Given the description of an element on the screen output the (x, y) to click on. 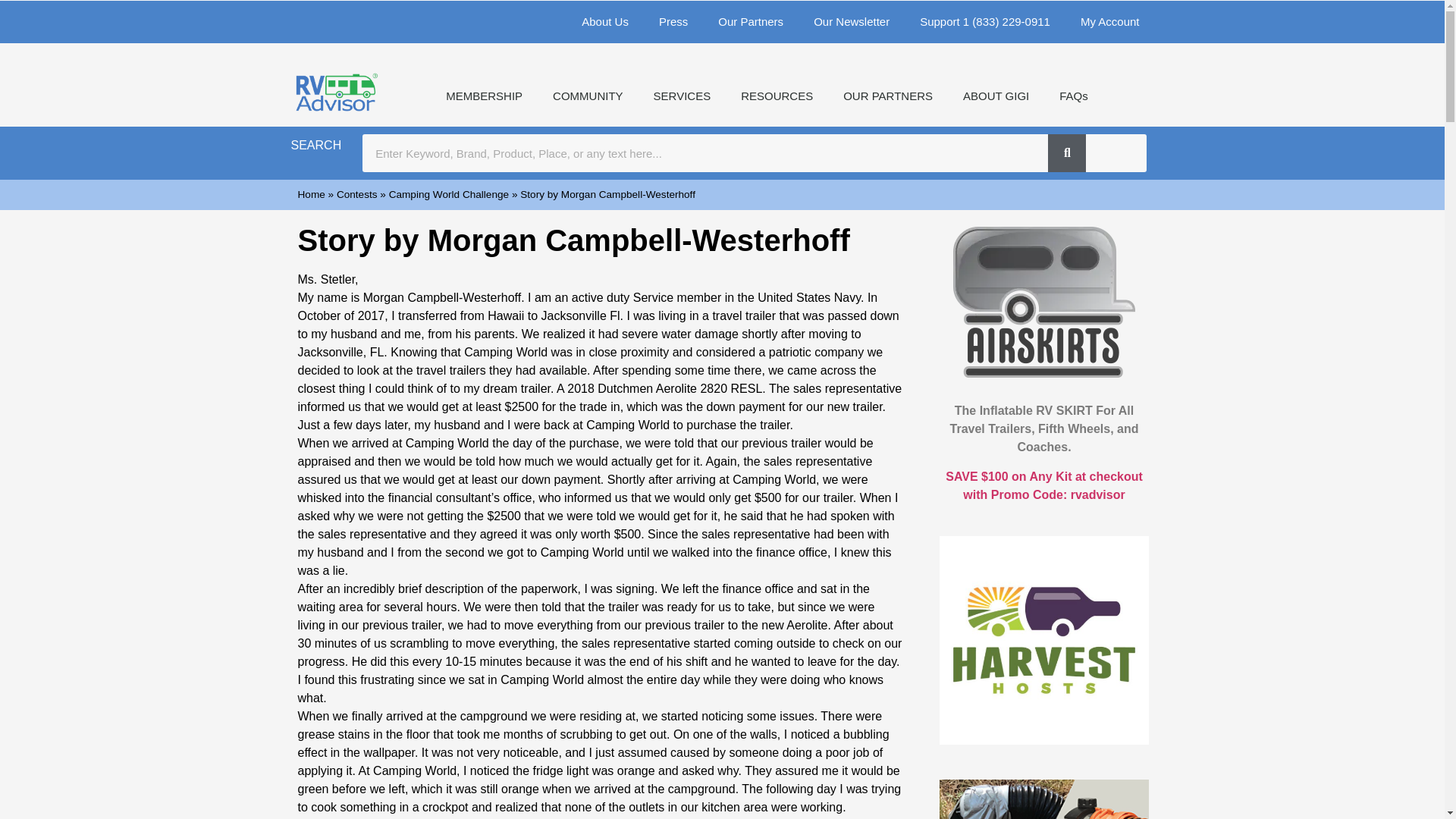
My Account (1109, 21)
Our Partners (750, 21)
Our Newsletter (850, 21)
Press (673, 21)
About Us (604, 21)
